Given the description of an element on the screen output the (x, y) to click on. 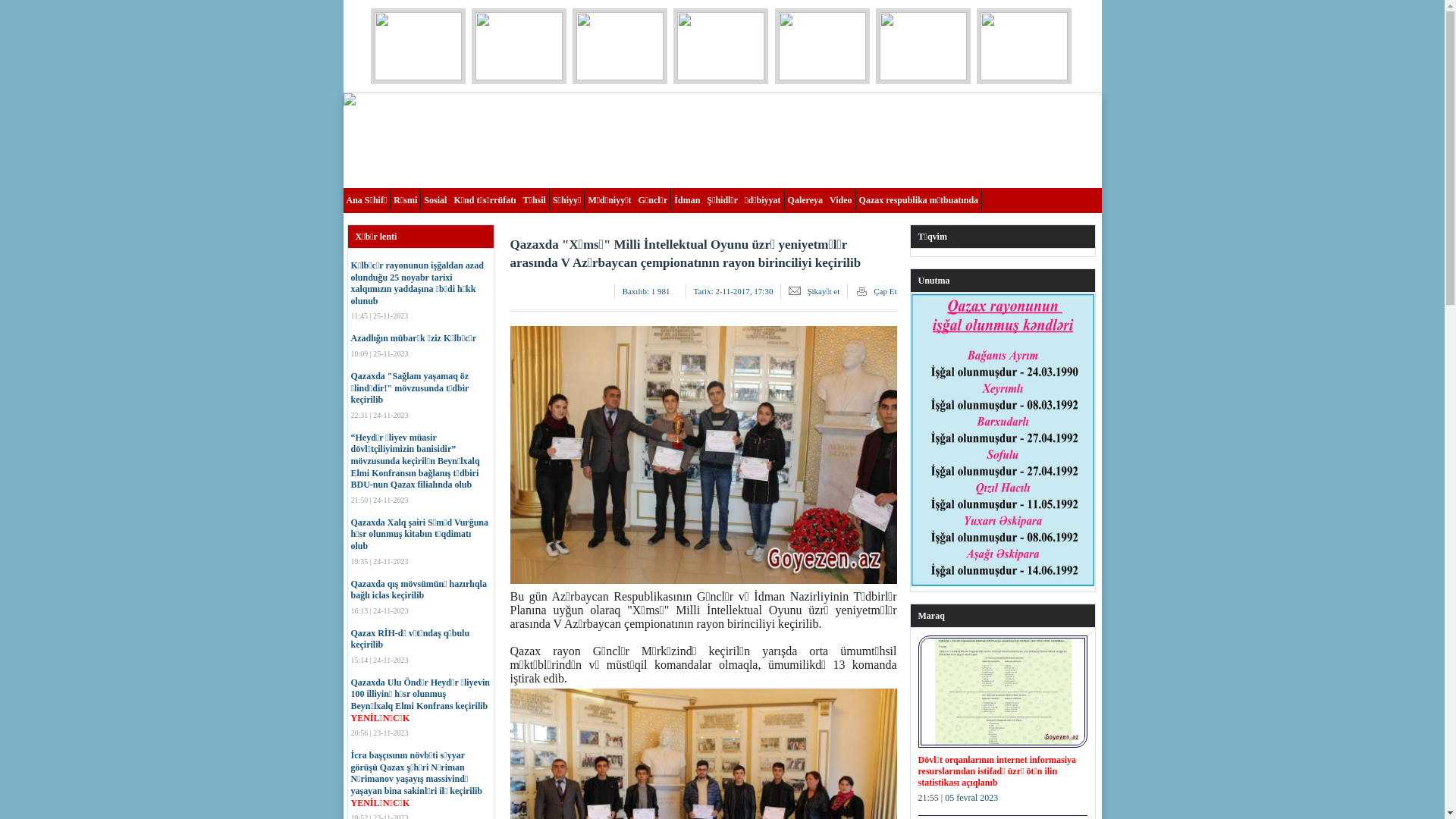
Video Element type: text (841, 199)
05 fevral 2023 Element type: text (970, 797)
Tarix: 2-11-2017, 17:30 Element type: text (733, 290)
Qalereya Element type: text (805, 199)
Sosial Element type: text (435, 199)
